Given the description of an element on the screen output the (x, y) to click on. 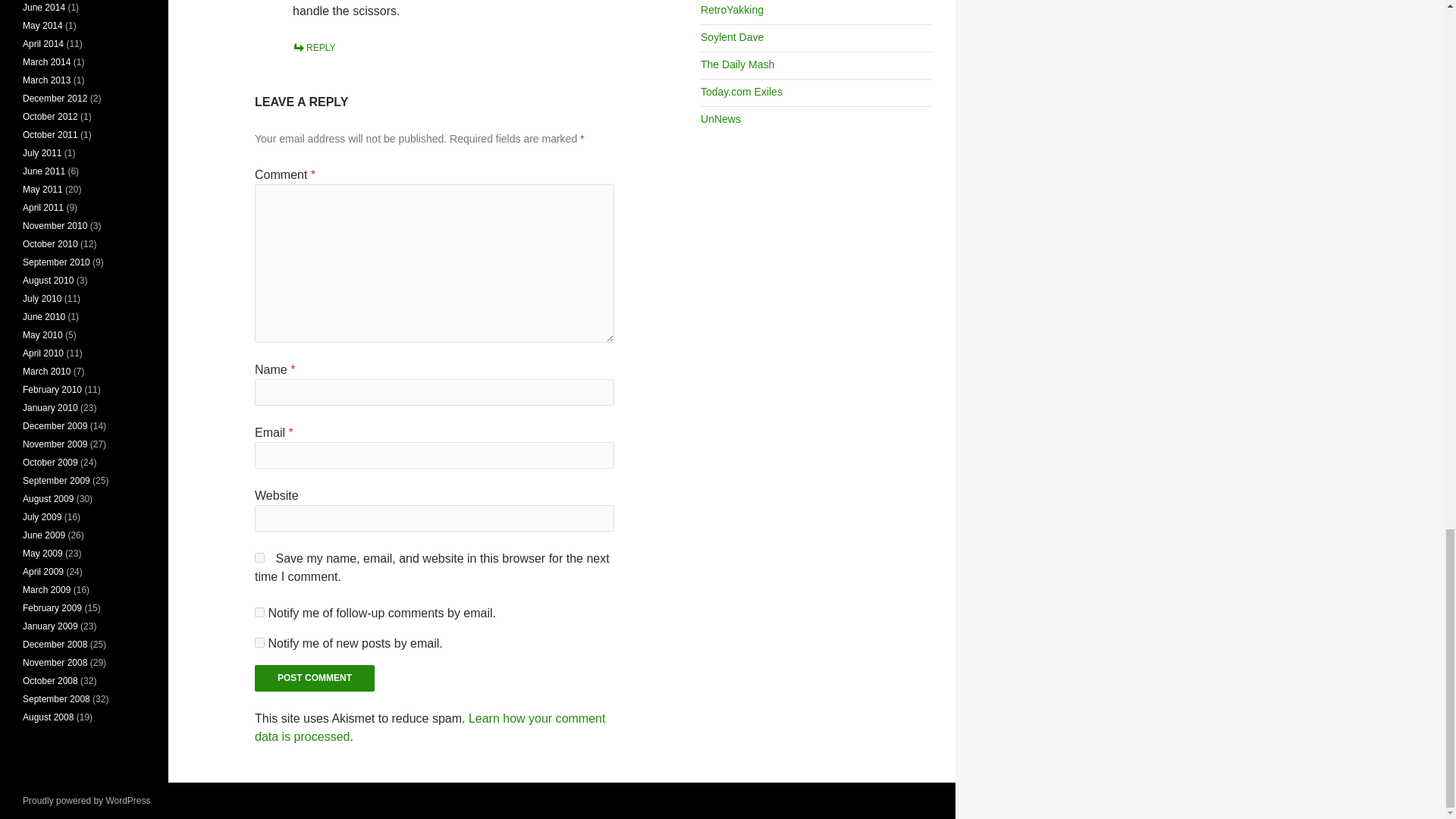
Post Comment (314, 678)
subscribe (259, 612)
yes (259, 557)
Unimaginative Pseudonym (731, 37)
Northern humour with Harry Yack (731, 9)
Learn how your comment data is processed (429, 726)
Post Comment (314, 678)
REPLY (313, 47)
subscribe (259, 642)
